Given the description of an element on the screen output the (x, y) to click on. 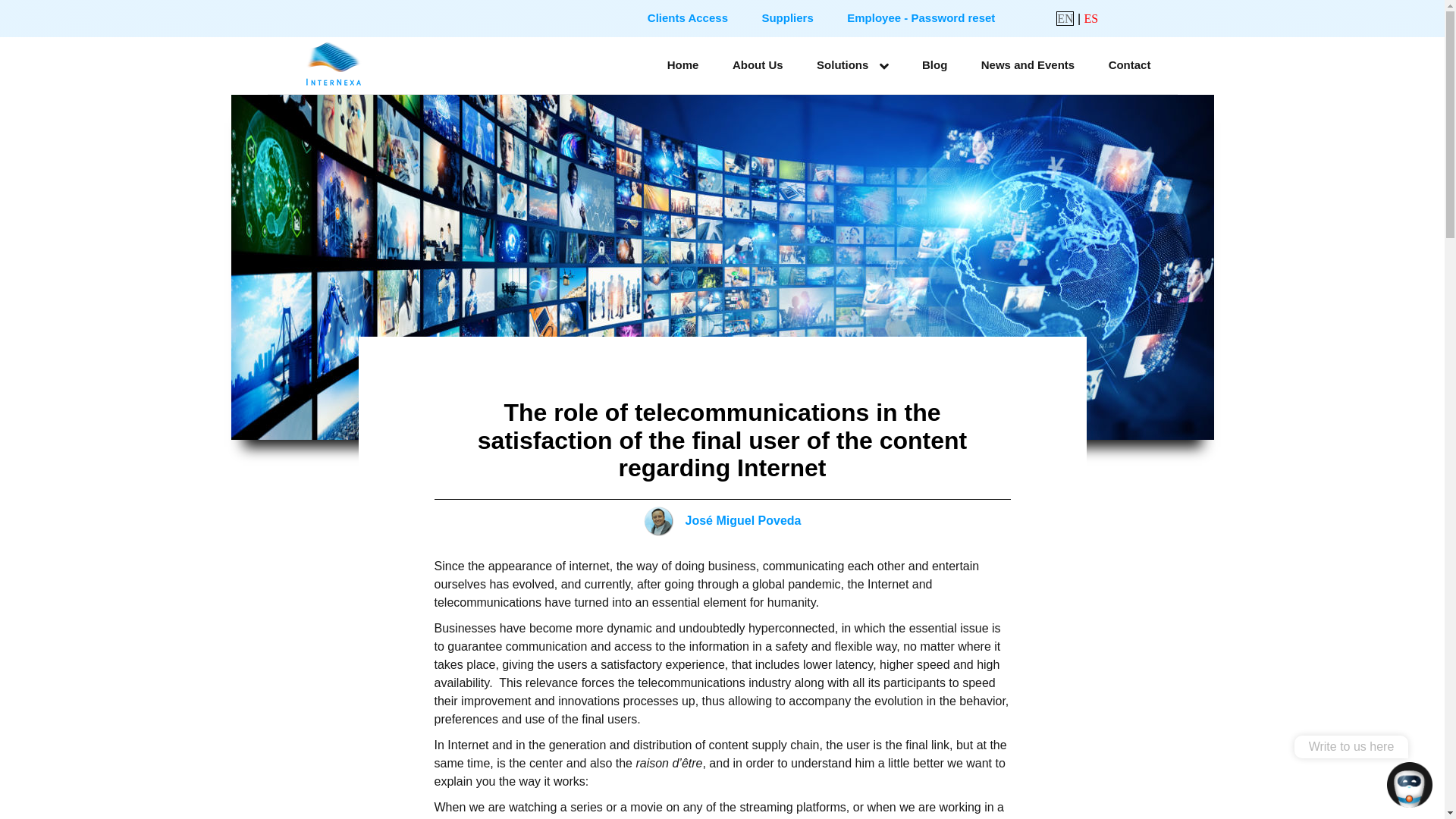
Employee - Password reset (920, 18)
Contact (1129, 64)
ES (1091, 18)
Solutions (853, 65)
About Us (757, 64)
LOGO-1B-a (333, 63)
News and Events (1027, 64)
Home (683, 64)
Suppliers (786, 18)
Blog (934, 64)
